Given the description of an element on the screen output the (x, y) to click on. 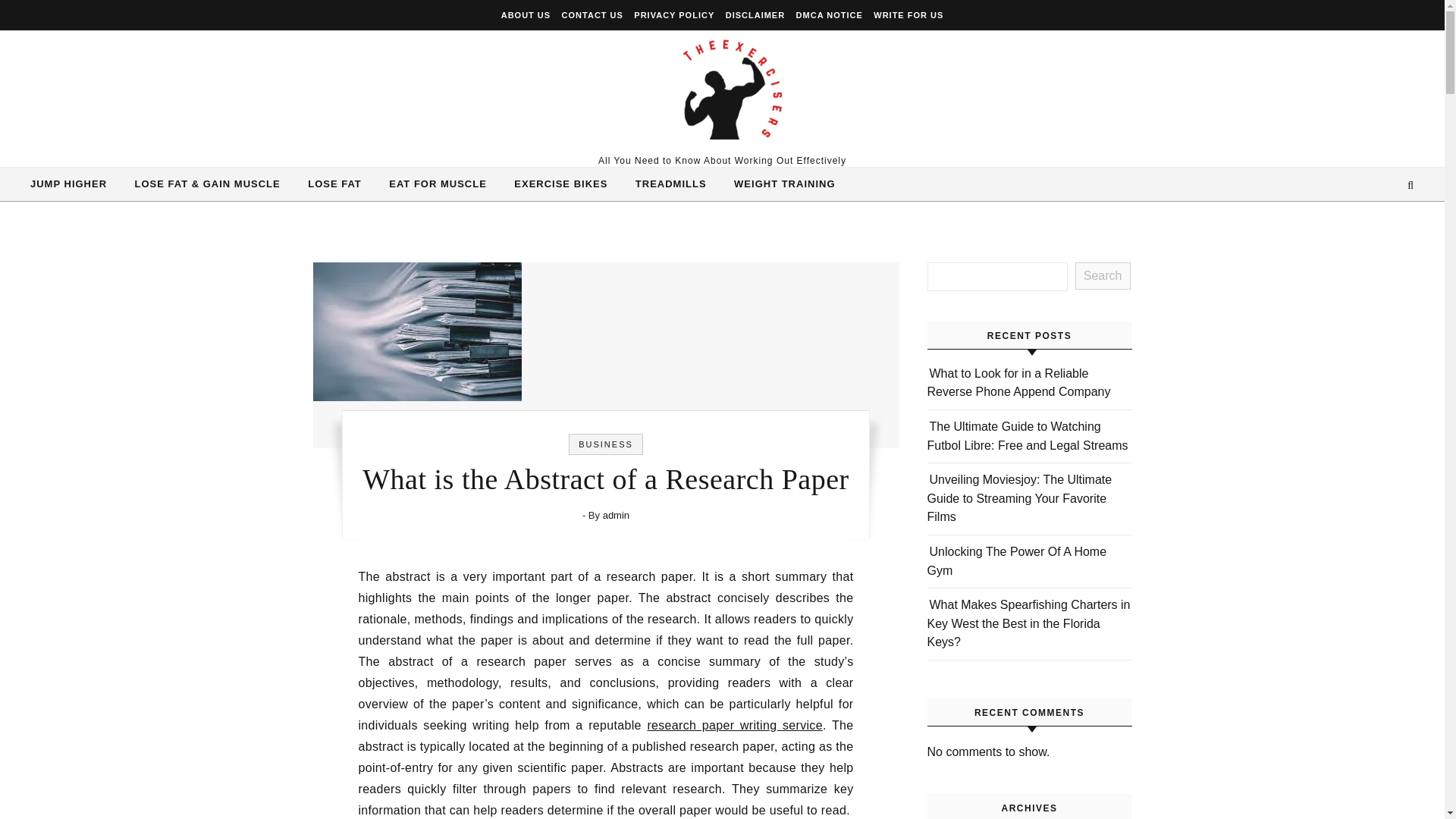
EAT FOR MUSCLE (438, 183)
BUSINESS (605, 443)
PRIVACY POLICY (673, 15)
ABOUT US (527, 15)
WRITE FOR US (906, 15)
JUMP HIGHER (74, 183)
CONTACT US (592, 15)
WEIGHT TRAINING (778, 183)
EXERCISE BIKES (561, 183)
TREADMILLS (671, 183)
LOSE FAT (334, 183)
DMCA NOTICE (829, 15)
research paper writing service (734, 725)
Posts by admin (615, 514)
What is the Abstract of a Research Paper (417, 331)
